Given the description of an element on the screen output the (x, y) to click on. 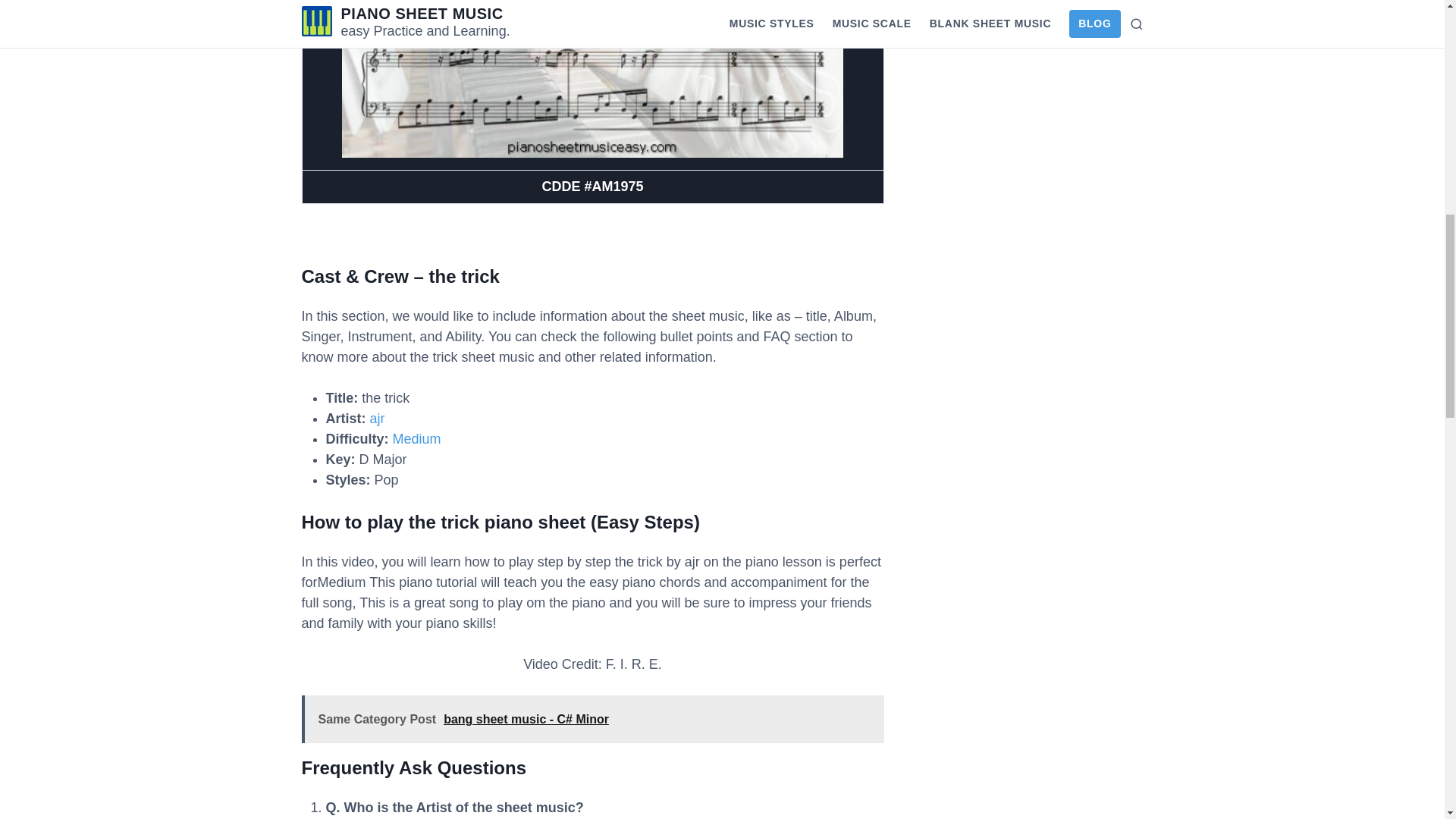
ajr (377, 418)
Medium (417, 438)
the trick free piano sheet music (592, 79)
